Given the description of an element on the screen output the (x, y) to click on. 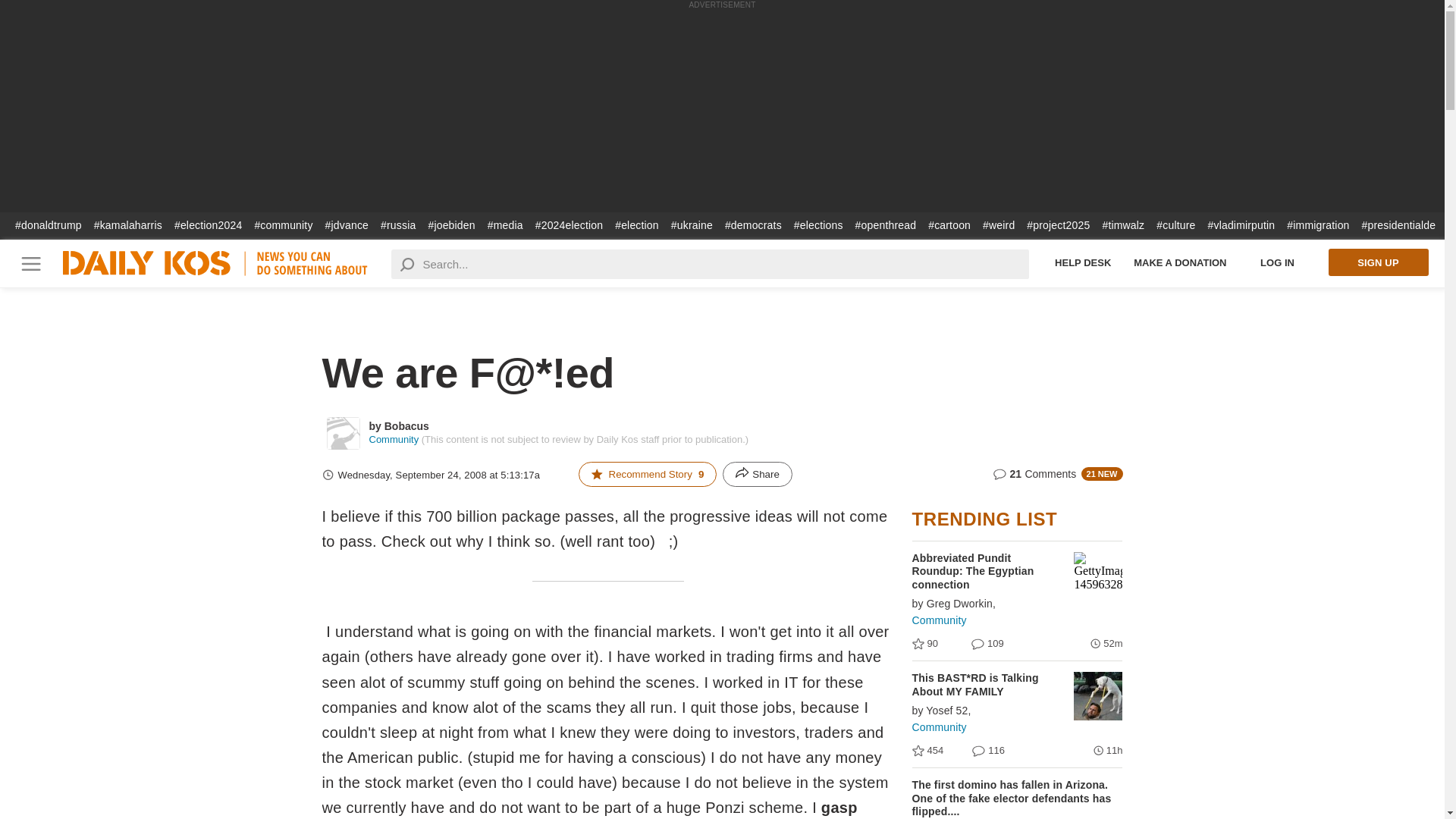
Help Desk (1082, 262)
Make a Donation (1179, 262)
MAKE A DONATION (1179, 262)
